Given the description of an element on the screen output the (x, y) to click on. 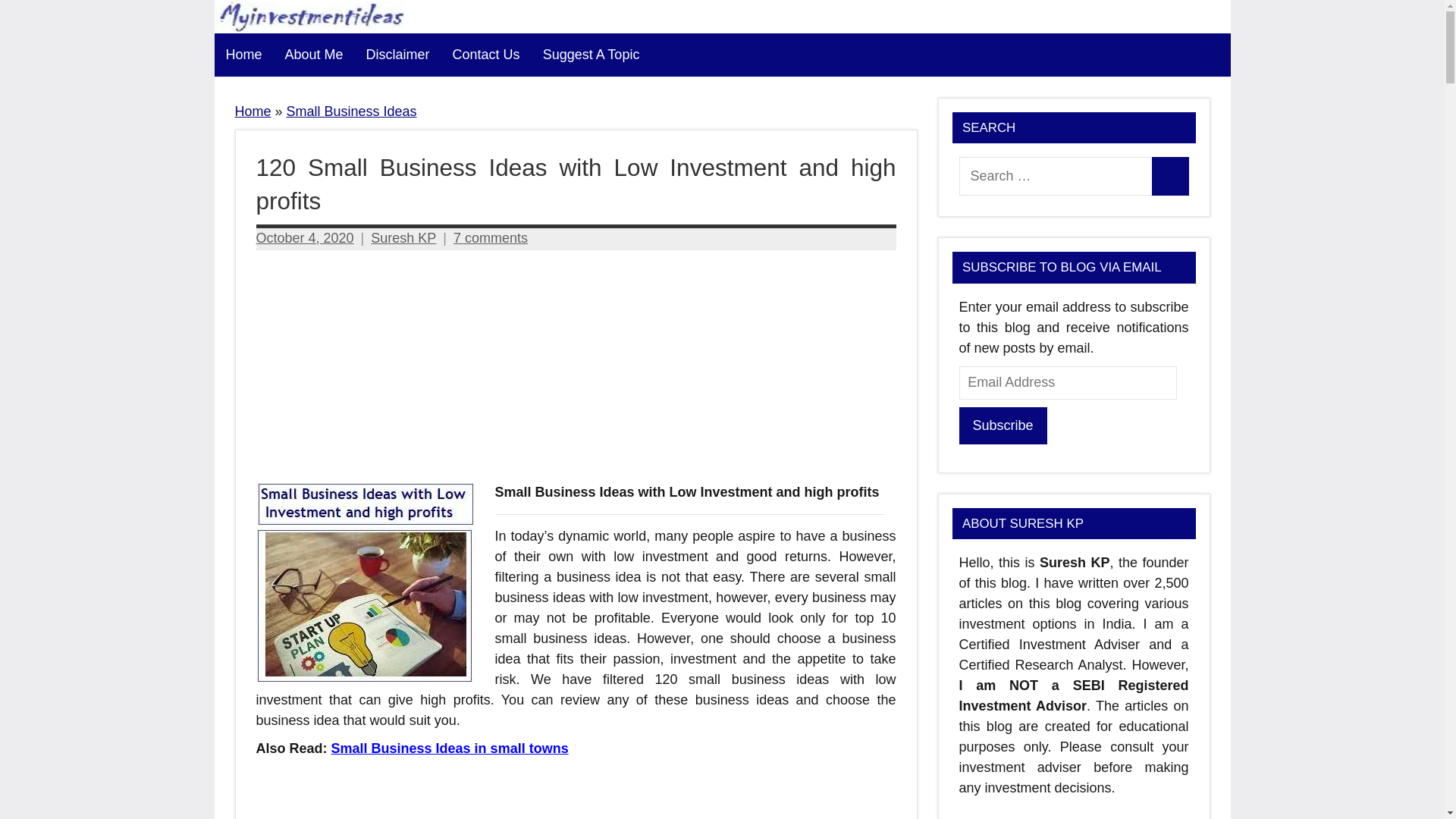
Advertisement (576, 792)
Contact Us (486, 54)
Small Business Ideas in small towns (450, 748)
October 4, 2020 (304, 237)
Suresh KP (403, 237)
Home (252, 111)
View all posts by Suresh KP (403, 237)
Home (243, 54)
Small Business Ideas (351, 111)
Disclaimer (398, 54)
